Given the description of an element on the screen output the (x, y) to click on. 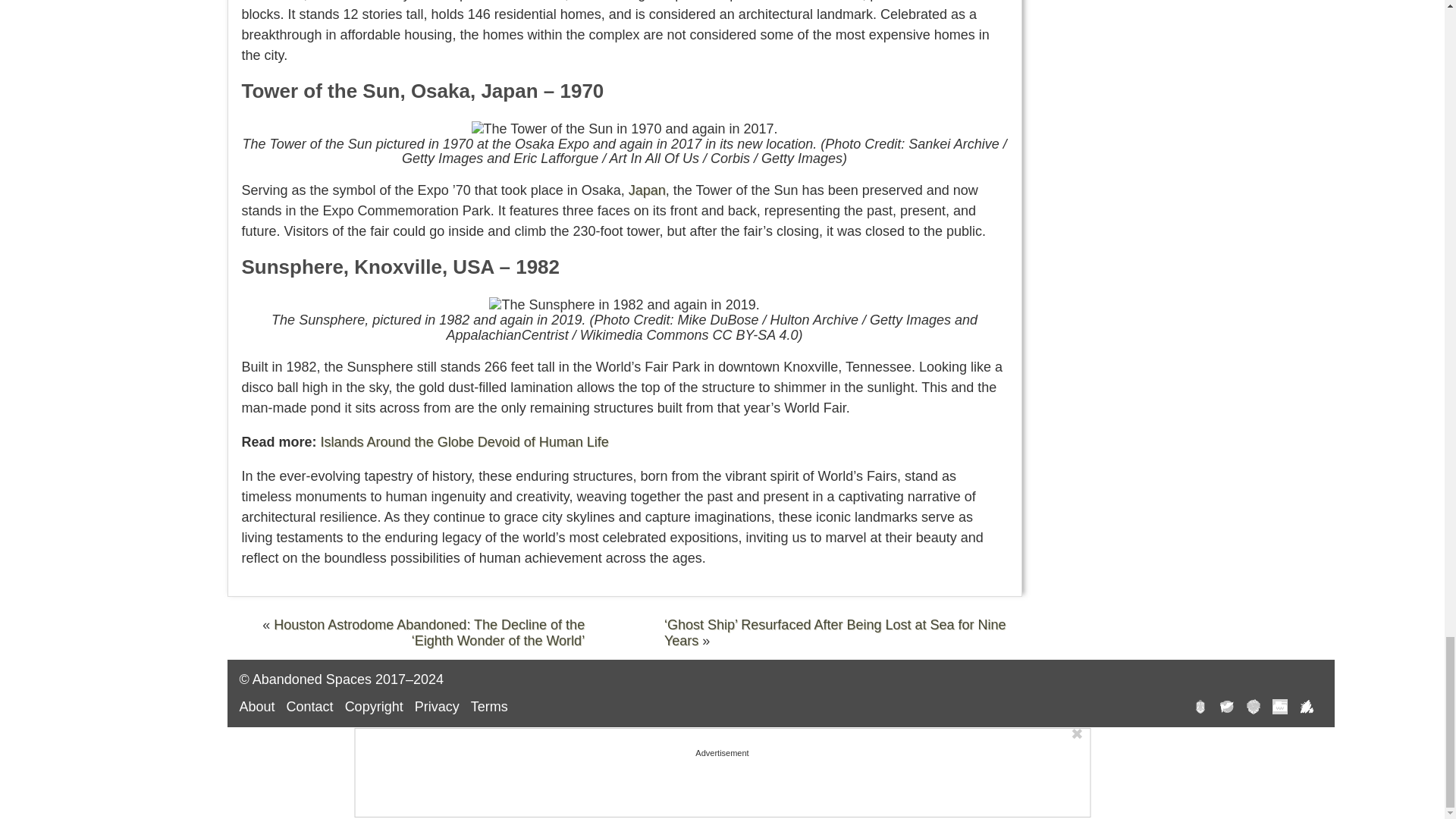
Japan (646, 190)
Islands Around the Globe Devoid of Human Life (464, 441)
